Given the description of an element on the screen output the (x, y) to click on. 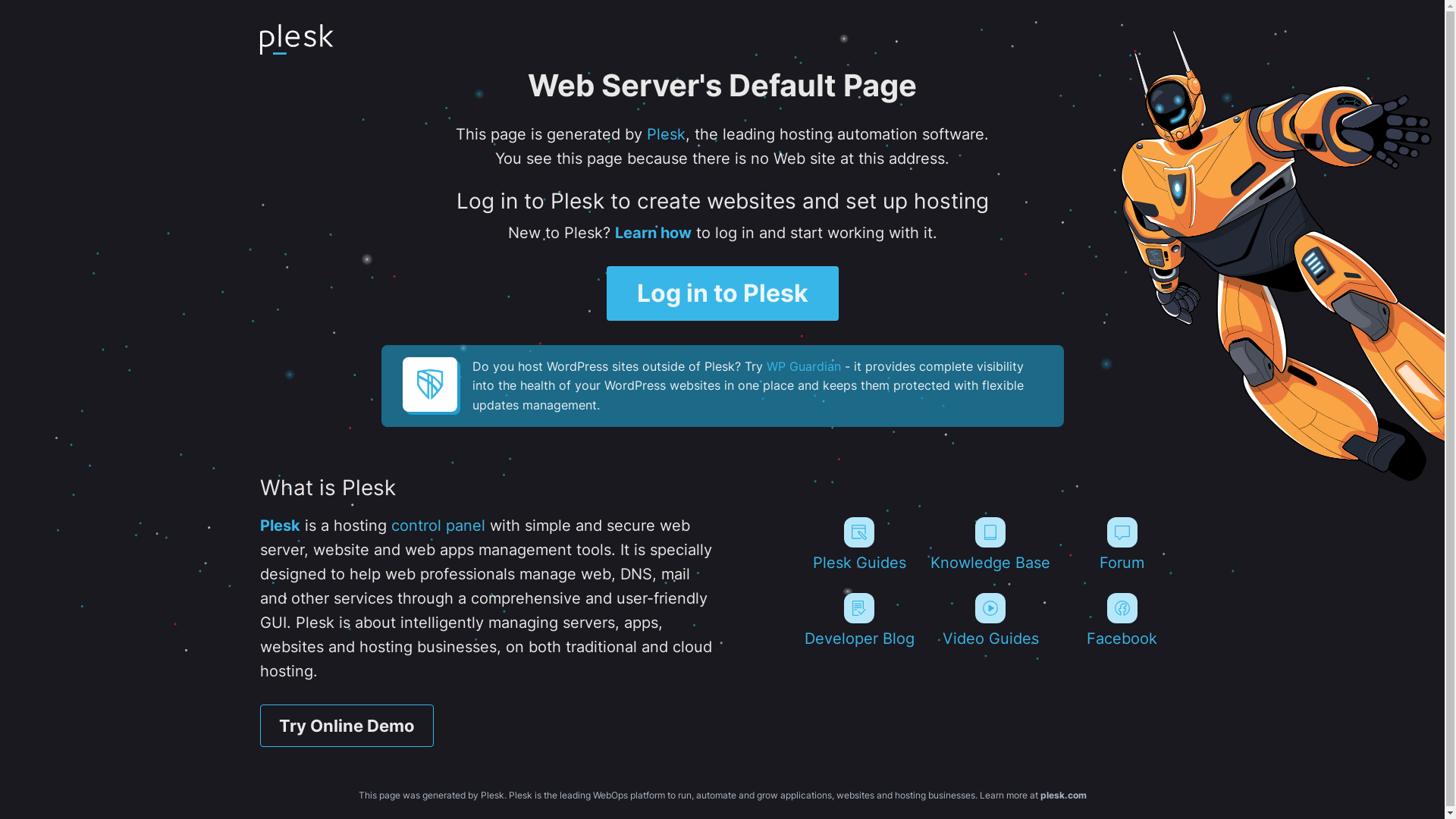
Video Guides Element type: text (990, 620)
Learn how Element type: text (652, 232)
plesk.com Element type: text (1063, 794)
WP Guardian Element type: text (802, 365)
Forum Element type: text (1121, 544)
Try Online Demo Element type: text (346, 725)
Knowledge Base Element type: text (990, 544)
Plesk Guides Element type: text (858, 544)
Plesk Element type: text (665, 134)
Plesk Element type: text (279, 525)
Facebook Element type: text (1121, 620)
Developer Blog Element type: text (858, 620)
Log in to Plesk Element type: text (722, 293)
control panel Element type: text (438, 525)
